Given the description of an element on the screen output the (x, y) to click on. 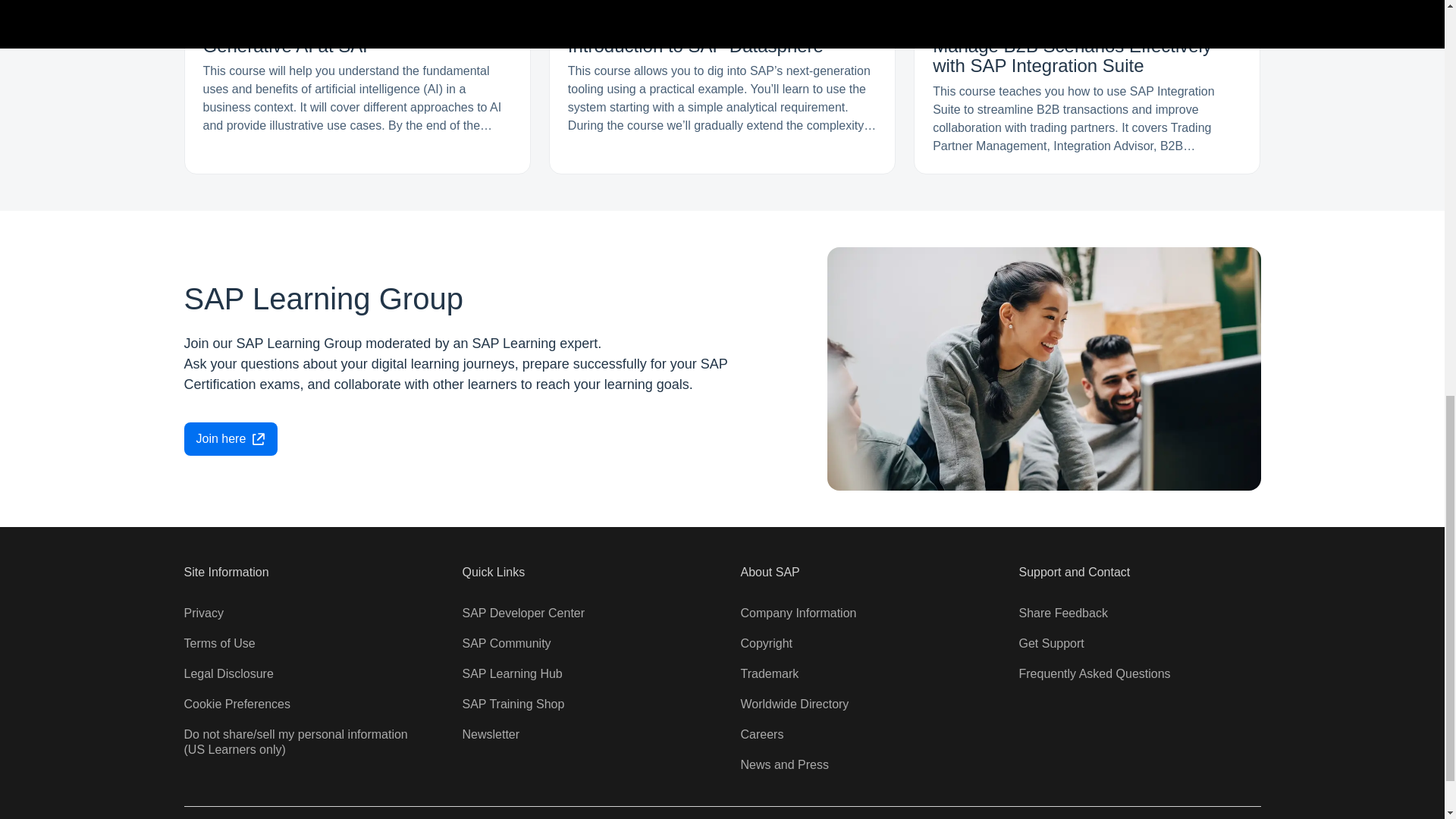
Get Support (1051, 643)
Share Feedback (1063, 612)
Cookie Preferences (236, 703)
SAP Training Shop (513, 703)
Copyright (765, 643)
Worldwide Directory (793, 703)
Company Information (797, 612)
Legal Disclosure (228, 673)
Newsletter (491, 734)
News and Press (783, 764)
